Given the description of an element on the screen output the (x, y) to click on. 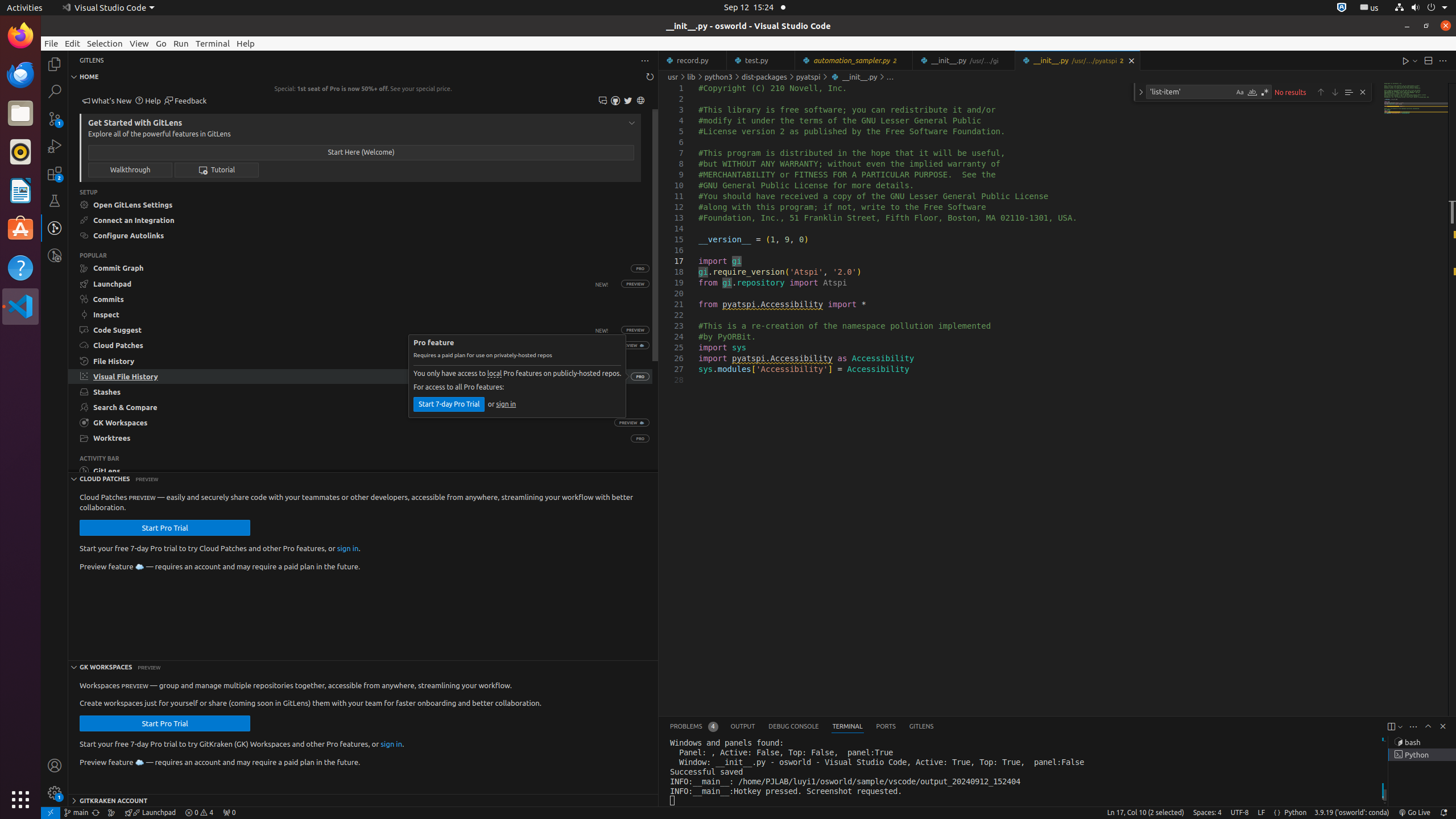
GitLens Element type: page-tab (921, 726)
Toggle Replace Element type: push-button (1140, 92)
Watch the GitLens Tutorial video Element type: link (216, 169)
File Element type: push-button (50, 43)
Show File History view Element type: link (359, 360)
